Given the description of an element on the screen output the (x, y) to click on. 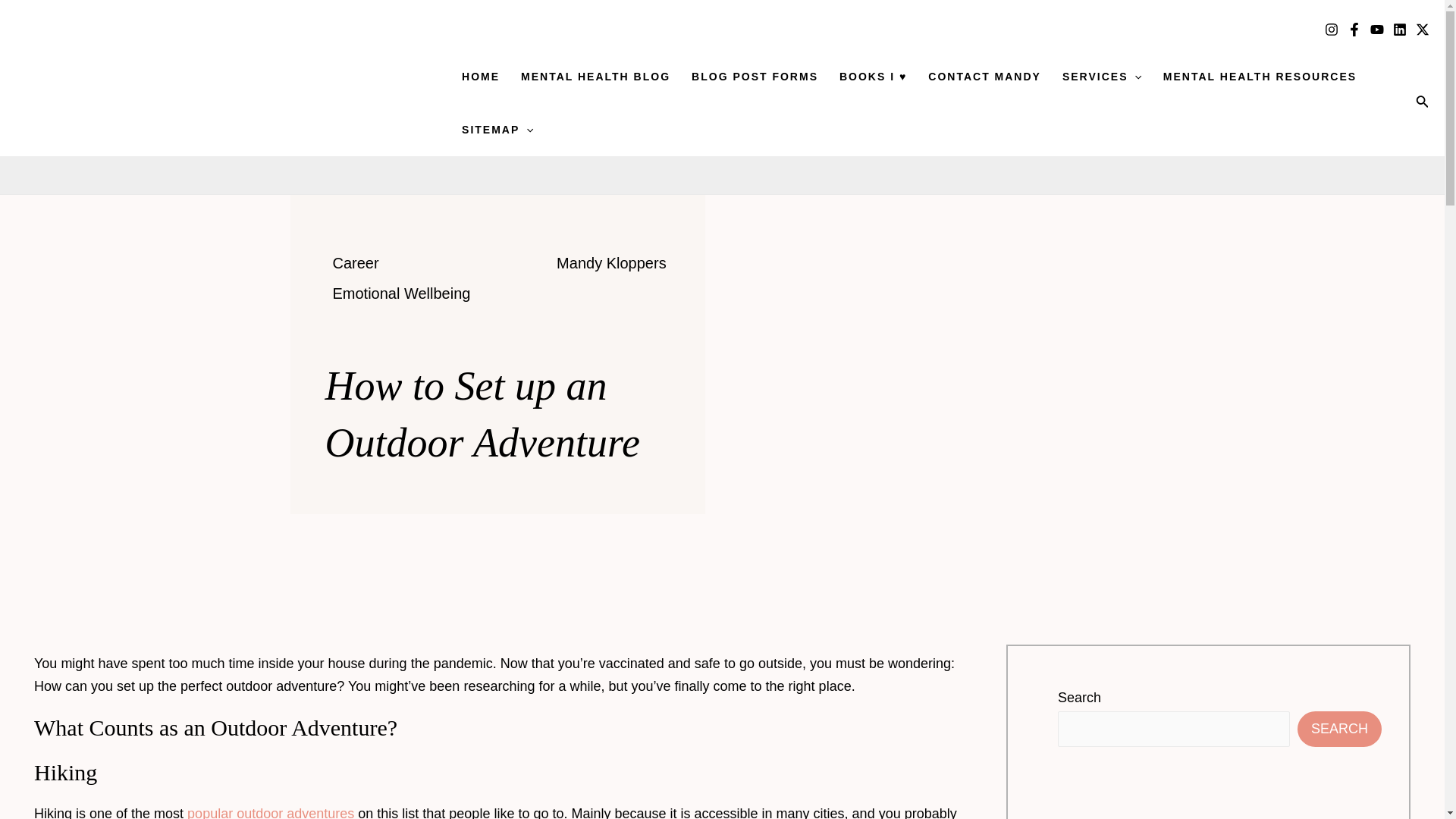
CONTACT MANDY (984, 76)
HOME (481, 76)
BLOG POST FORMS (754, 76)
SERVICES (1102, 76)
MENTAL HEALTH BLOG (596, 76)
SITEMAP (497, 129)
MENTAL HEALTH RESOURCES (1260, 76)
